Given the description of an element on the screen output the (x, y) to click on. 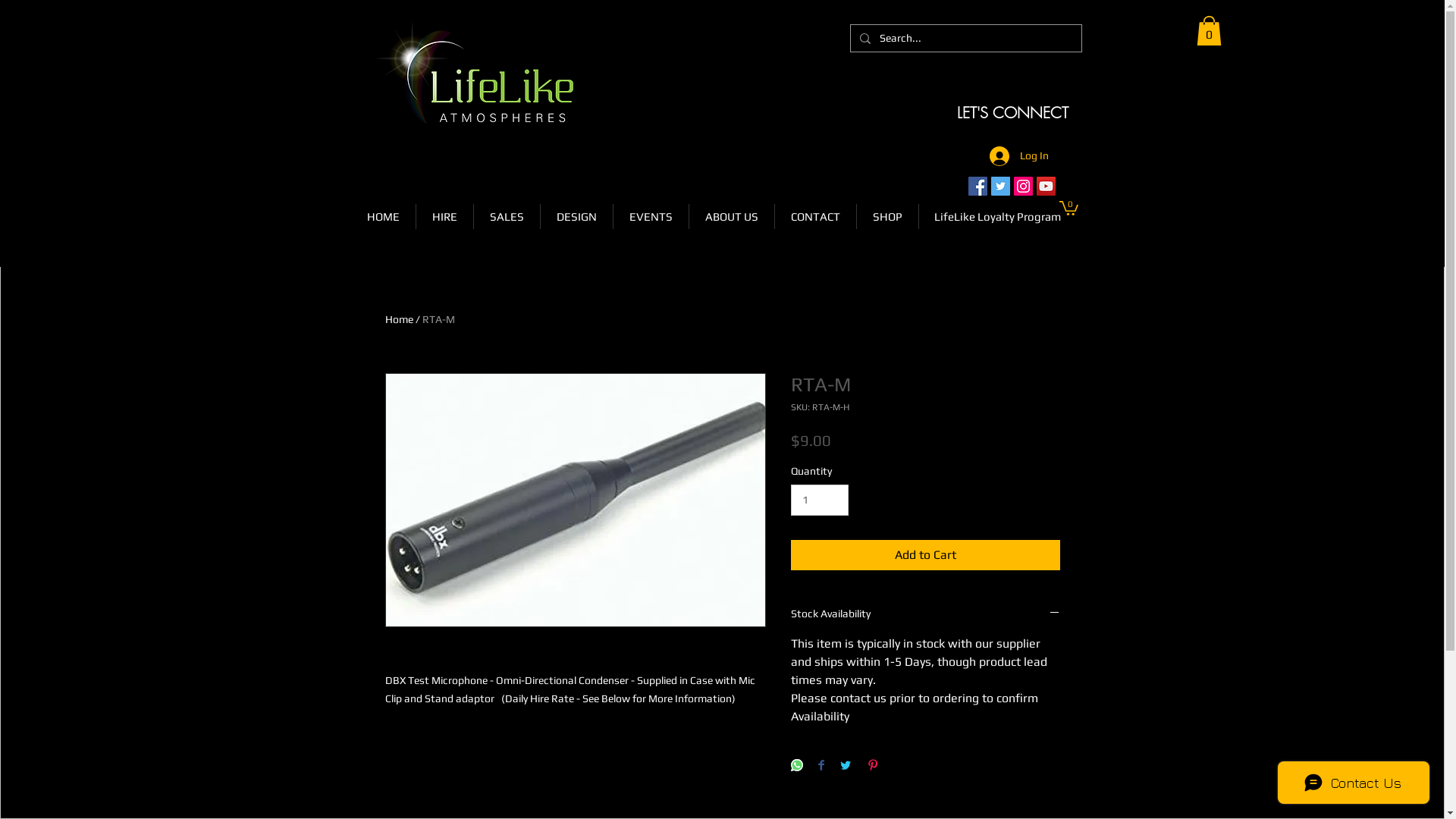
RTA-M Element type: text (437, 319)
HIRE Element type: text (443, 216)
SHOP Element type: text (887, 216)
Home Element type: text (399, 319)
LifeLike Loyalty Program Element type: text (997, 216)
Log In Element type: text (1018, 155)
DESIGN Element type: text (575, 216)
Stock Availability Element type: text (924, 614)
Add to Cart Element type: text (924, 554)
0 Element type: text (1208, 30)
SALES Element type: text (506, 216)
LLA Logo - RGB.jpg Element type: hover (472, 72)
0 Element type: text (1067, 207)
EVENTS Element type: text (649, 216)
HOME Element type: text (382, 216)
CONTACT Element type: text (815, 216)
ABOUT US Element type: text (730, 216)
